Given the description of an element on the screen output the (x, y) to click on. 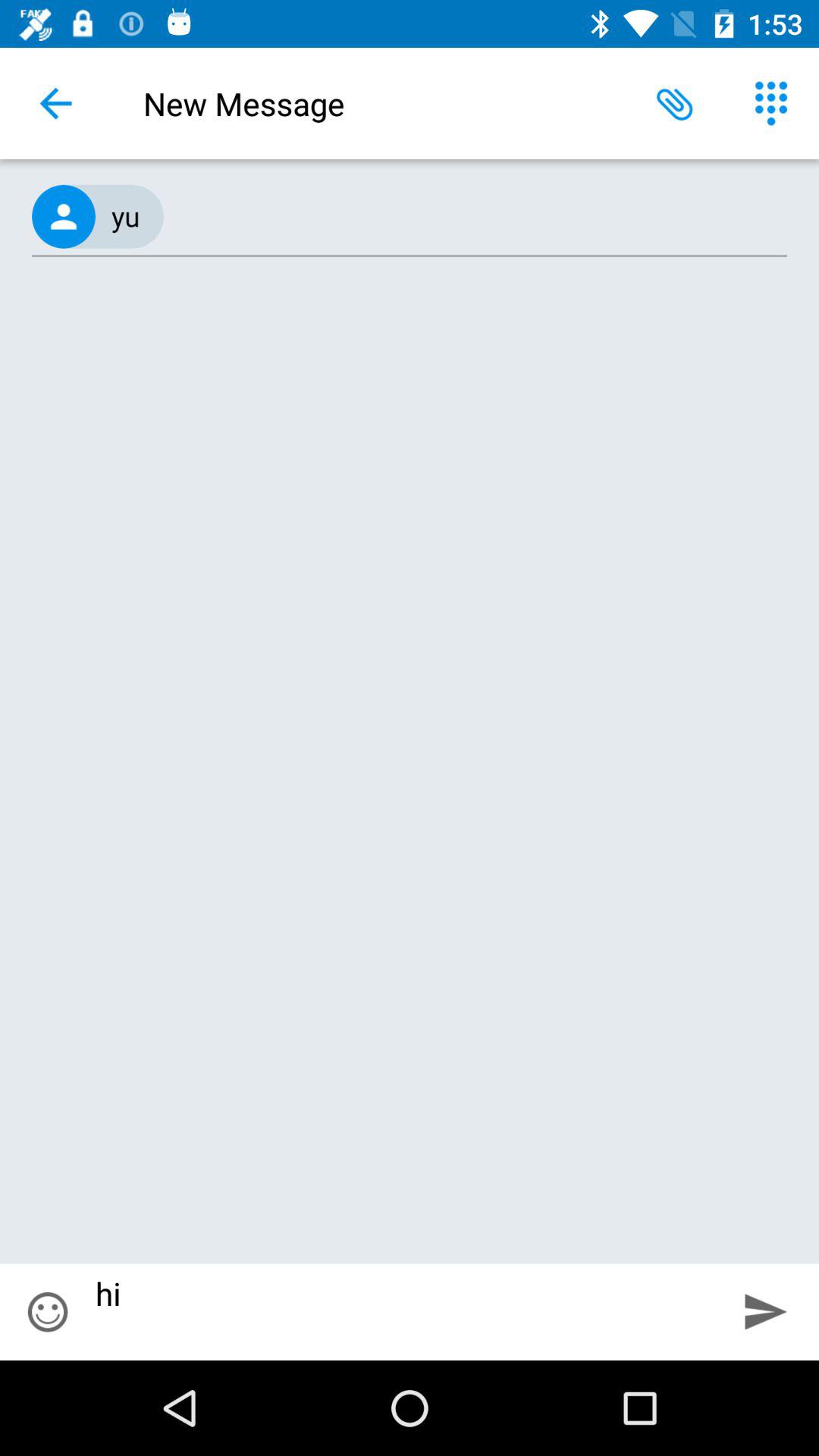
choose emoji (47, 1311)
